Given the description of an element on the screen output the (x, y) to click on. 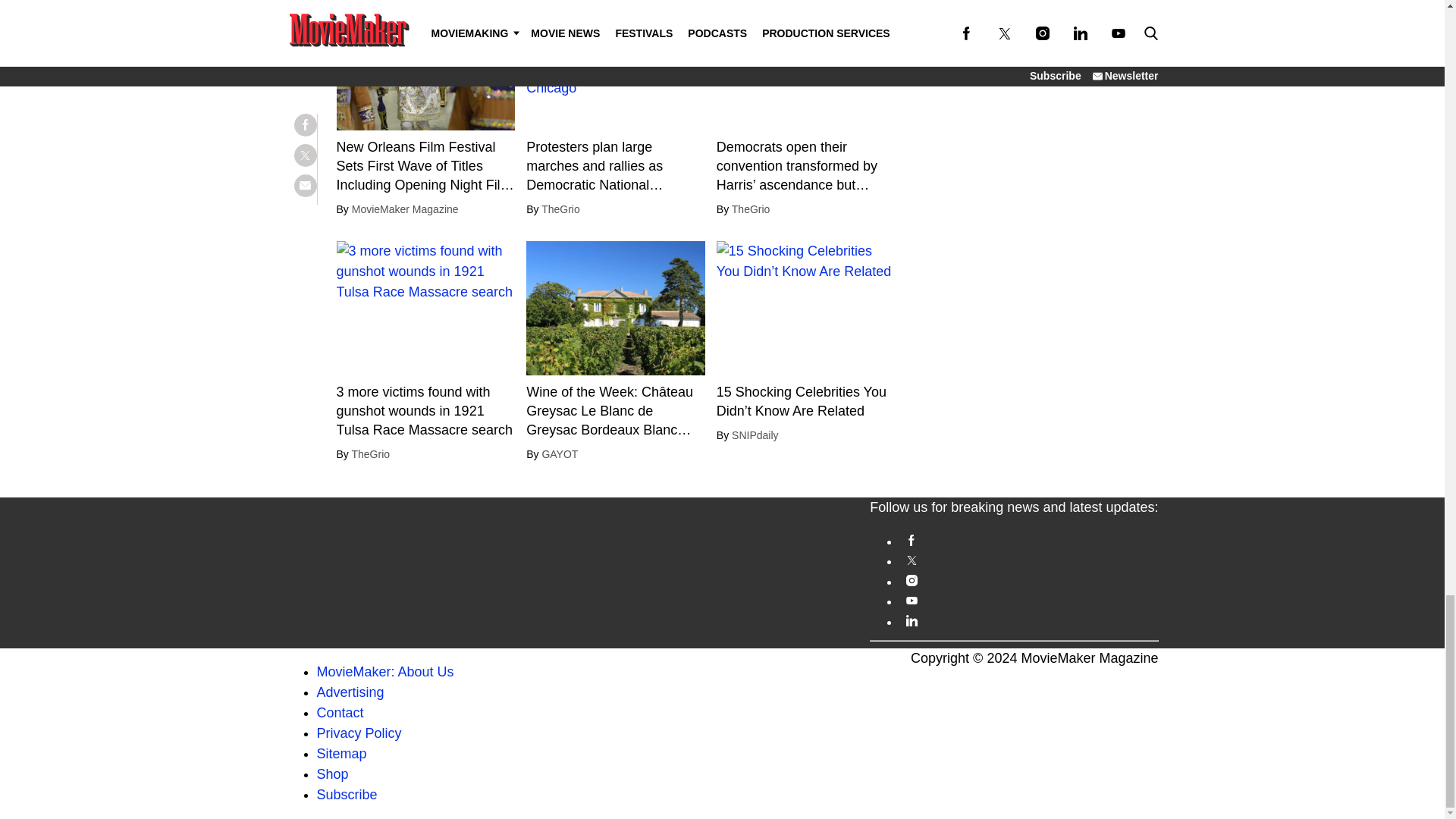
Connect with us on LinkedIn (1028, 620)
Advertising (350, 692)
Follow us on Facebook (1028, 540)
Subscribe to our YouTube channel (1028, 600)
MovieMaker Magazine Privacy Policy (359, 733)
MovieMaker: About Us (385, 671)
Follow us on Twitter (1028, 559)
Contact MovieMaker Magazine (340, 712)
MovieMaker Magazine Shop (333, 774)
Follow us on Instagram (1028, 580)
